Given the description of an element on the screen output the (x, y) to click on. 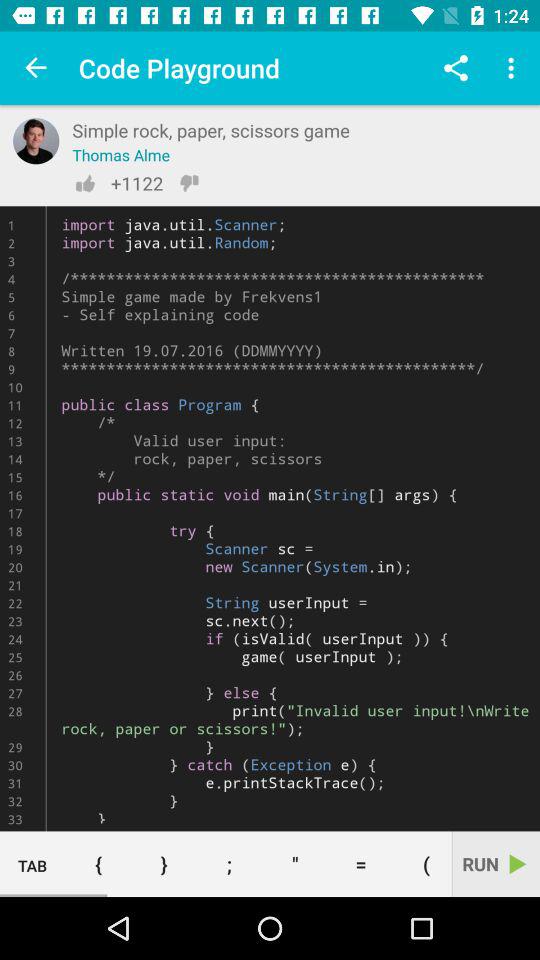
thumbs up the displayed set of code (85, 183)
